Given the description of an element on the screen output the (x, y) to click on. 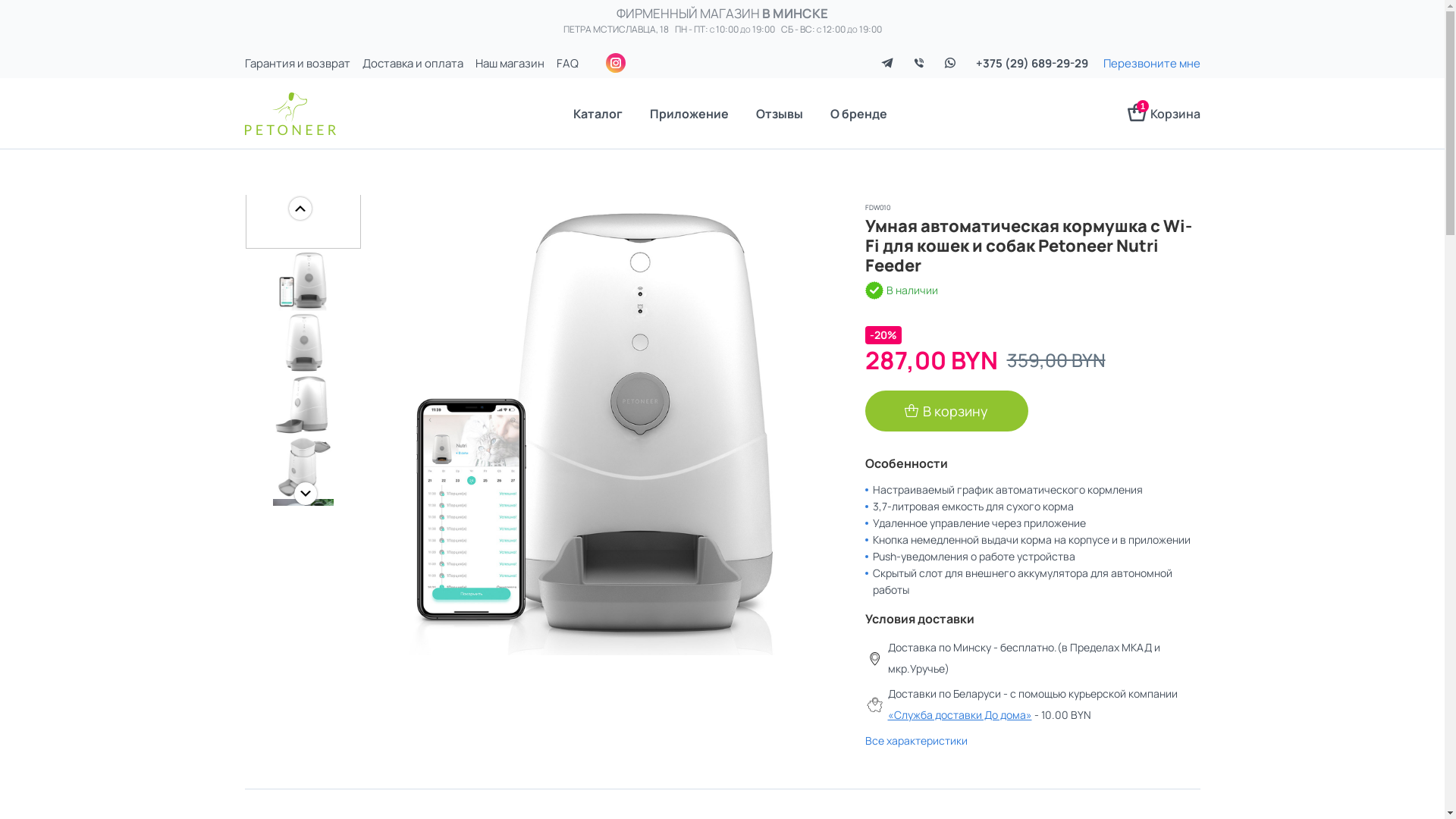
FAQ Element type: text (567, 62)
+375 (29) 689-29-29 Element type: text (1031, 62)
01 Element type: hover (597, 424)
Instagram page opens in new window Element type: text (614, 62)
video Element type: hover (302, 190)
